Given the description of an element on the screen output the (x, y) to click on. 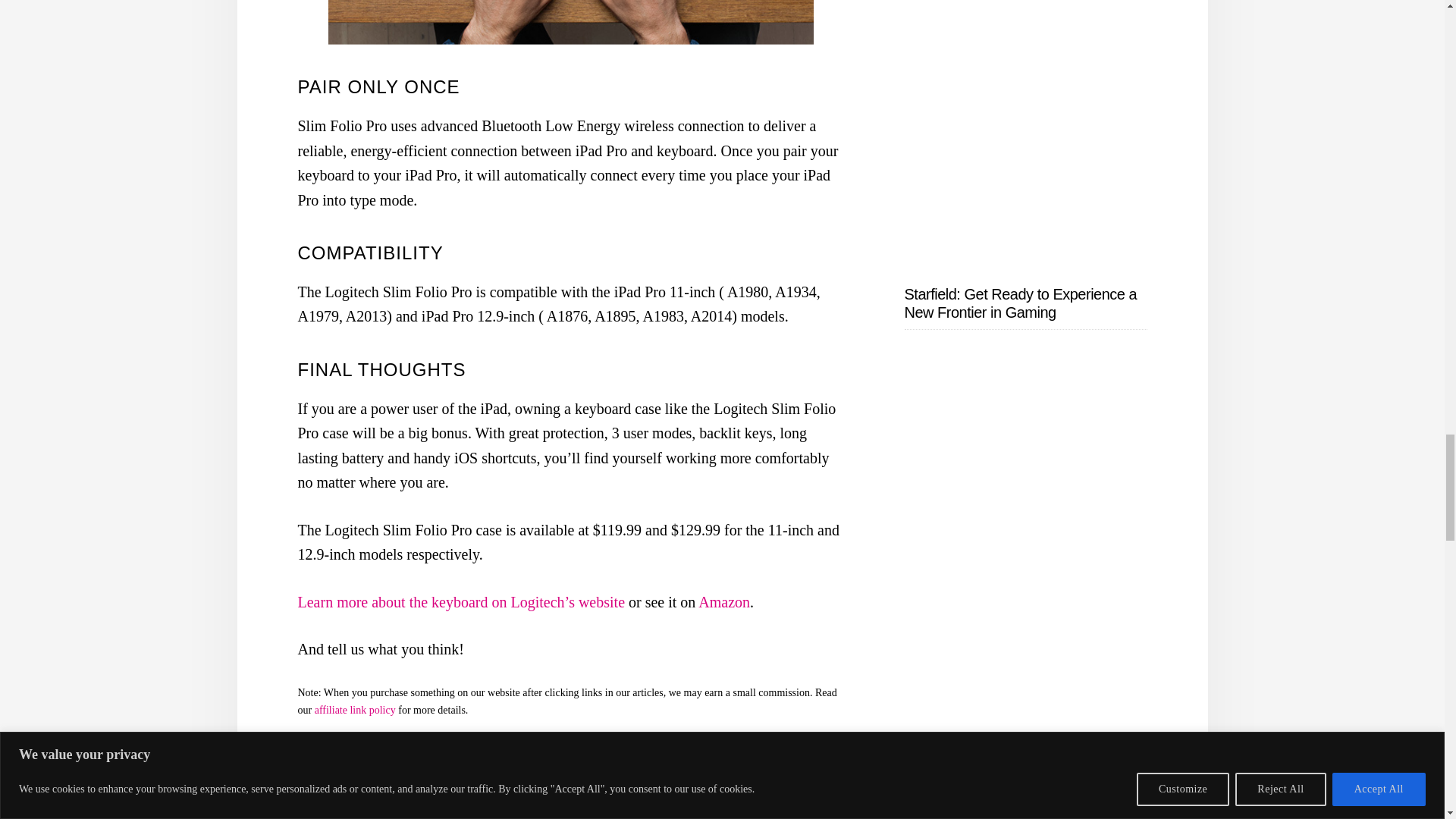
Amazon (723, 601)
affiliate link policy  (356, 709)
